Given the description of an element on the screen output the (x, y) to click on. 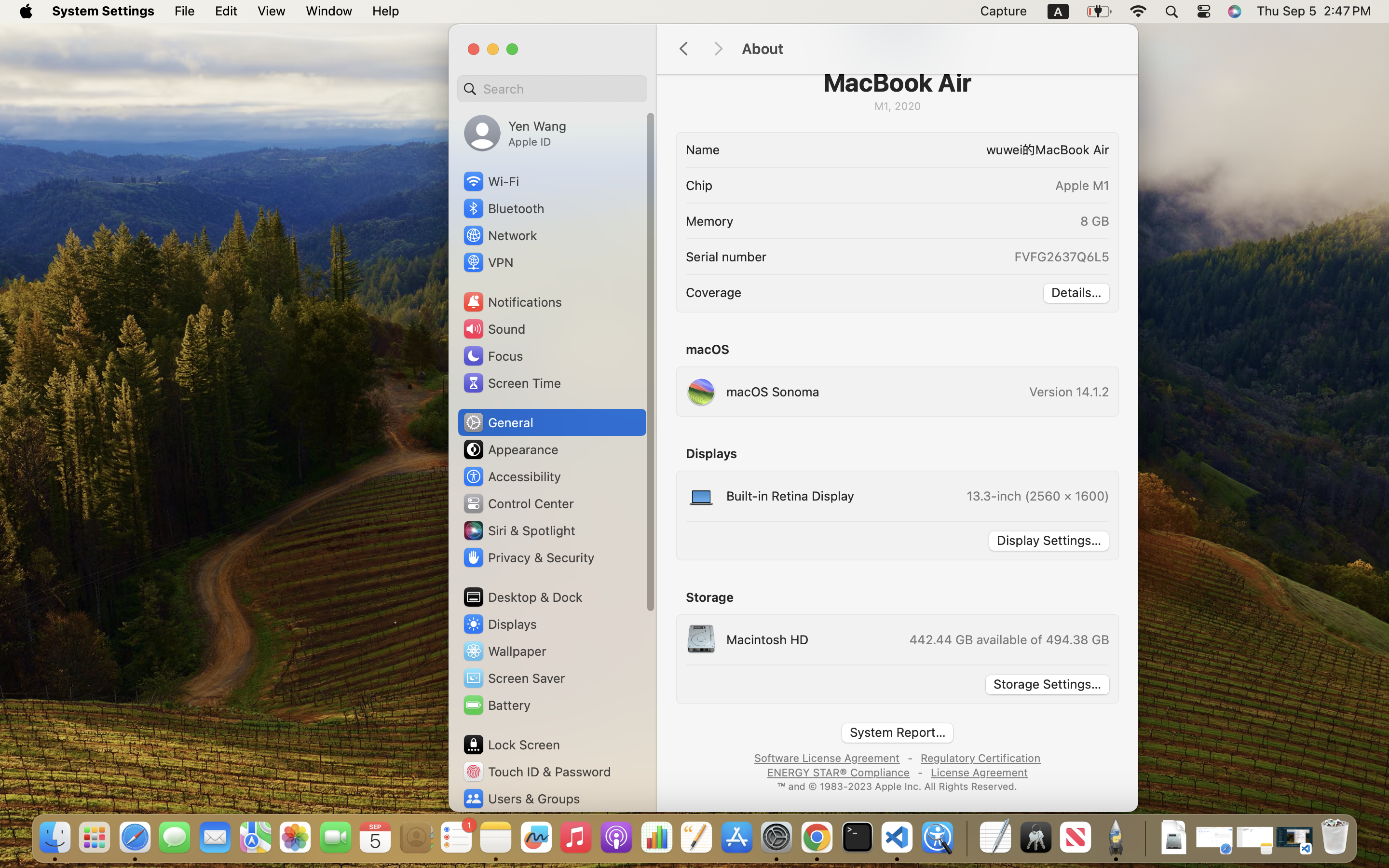
Siri & Spotlight Element type: AXStaticText (518, 530)
0.4285714328289032 Element type: AXDockItem (965, 837)
